Given the description of an element on the screen output the (x, y) to click on. 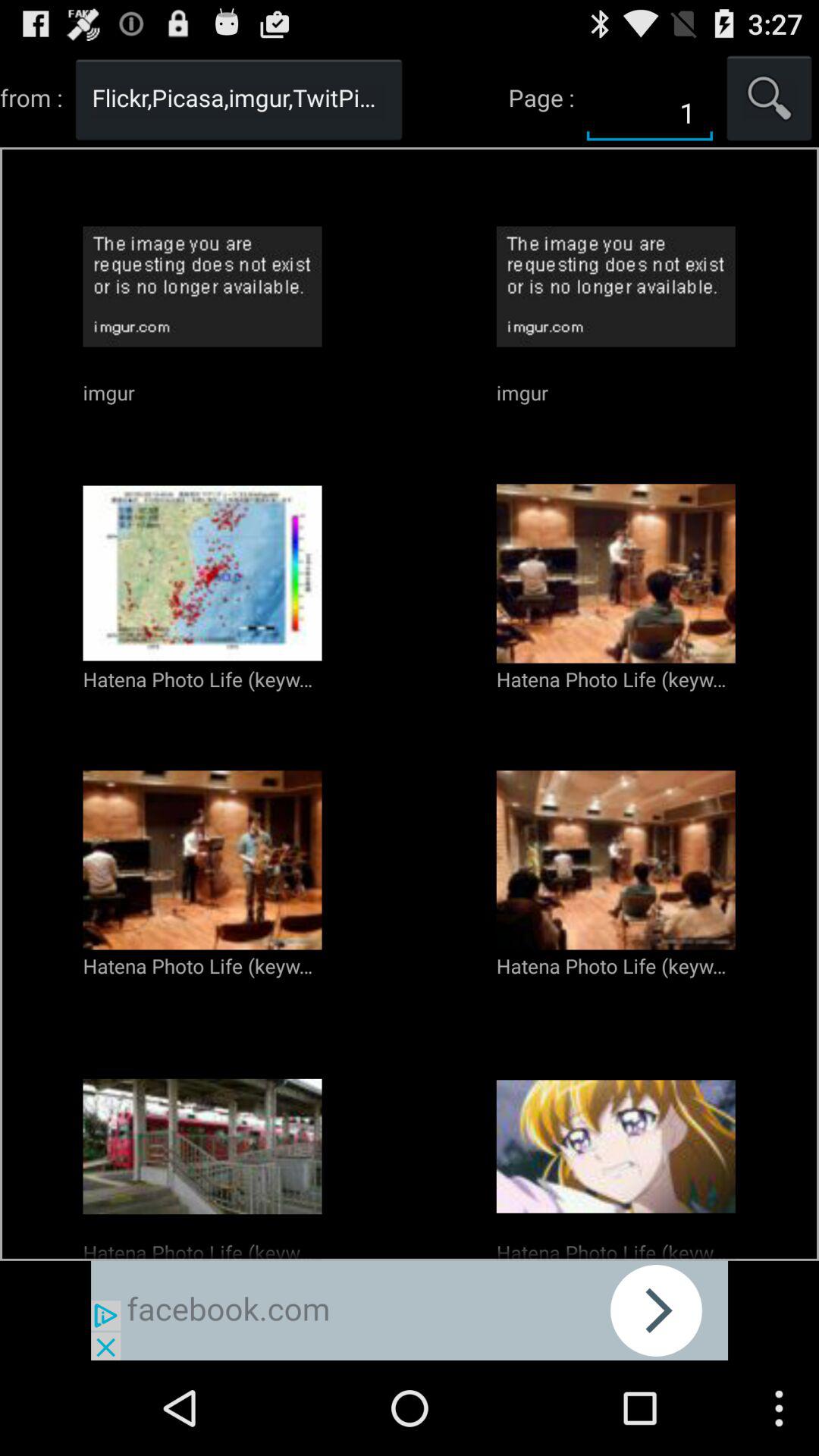
seatch the page (769, 97)
